Given the description of an element on the screen output the (x, y) to click on. 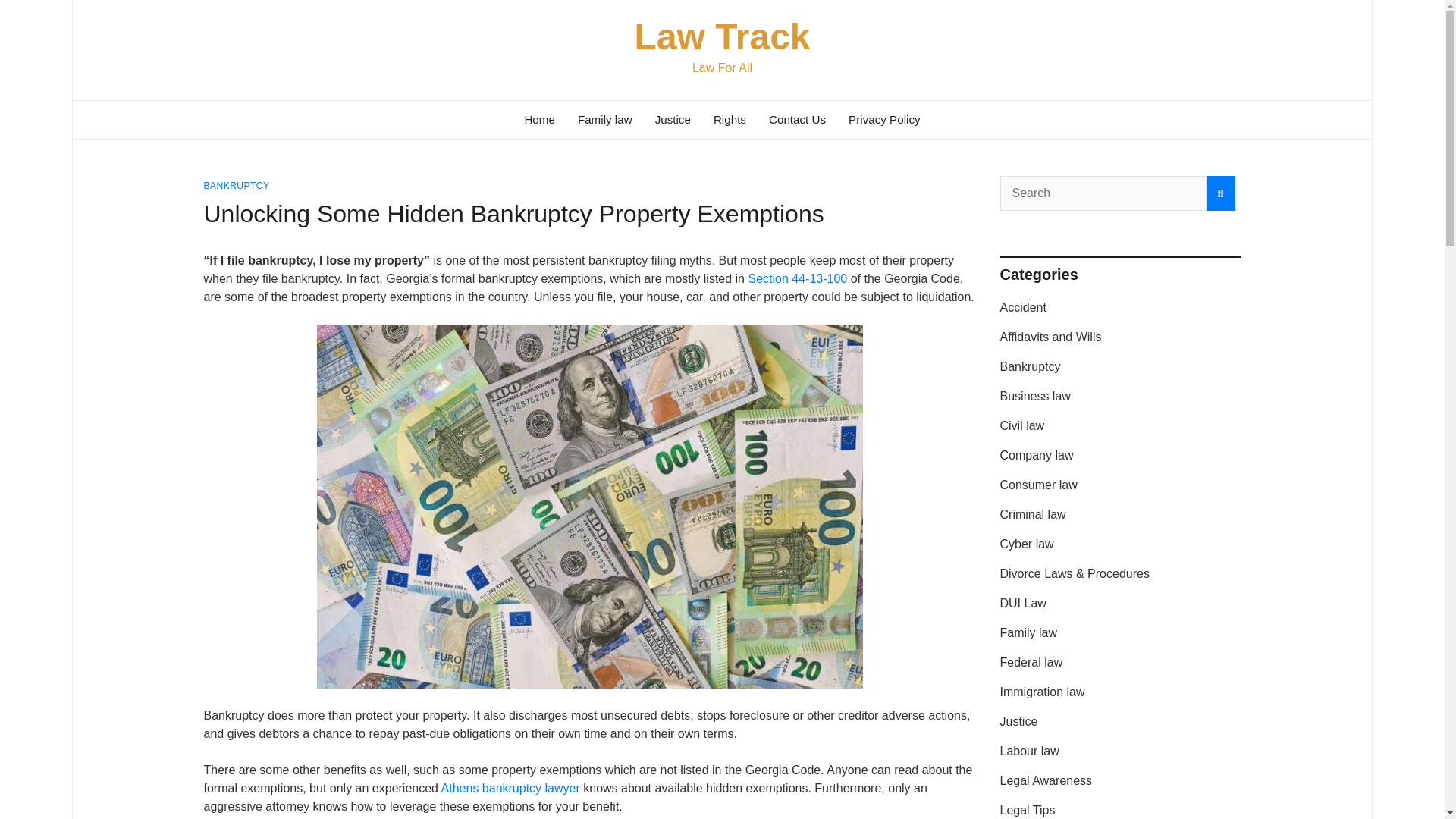
Justice (672, 119)
Home (539, 119)
Section 44-13-100 (797, 278)
Business law (1034, 395)
Affidavits and Wills (1049, 336)
Privacy Policy (884, 119)
Legal Awareness (1045, 780)
Family law (604, 119)
Labour law (1028, 750)
BANKRUPTCY (236, 185)
Family law (1027, 632)
Law Track (721, 36)
Civil law (1020, 425)
Federal law (1030, 662)
Company law (1035, 454)
